Given the description of an element on the screen output the (x, y) to click on. 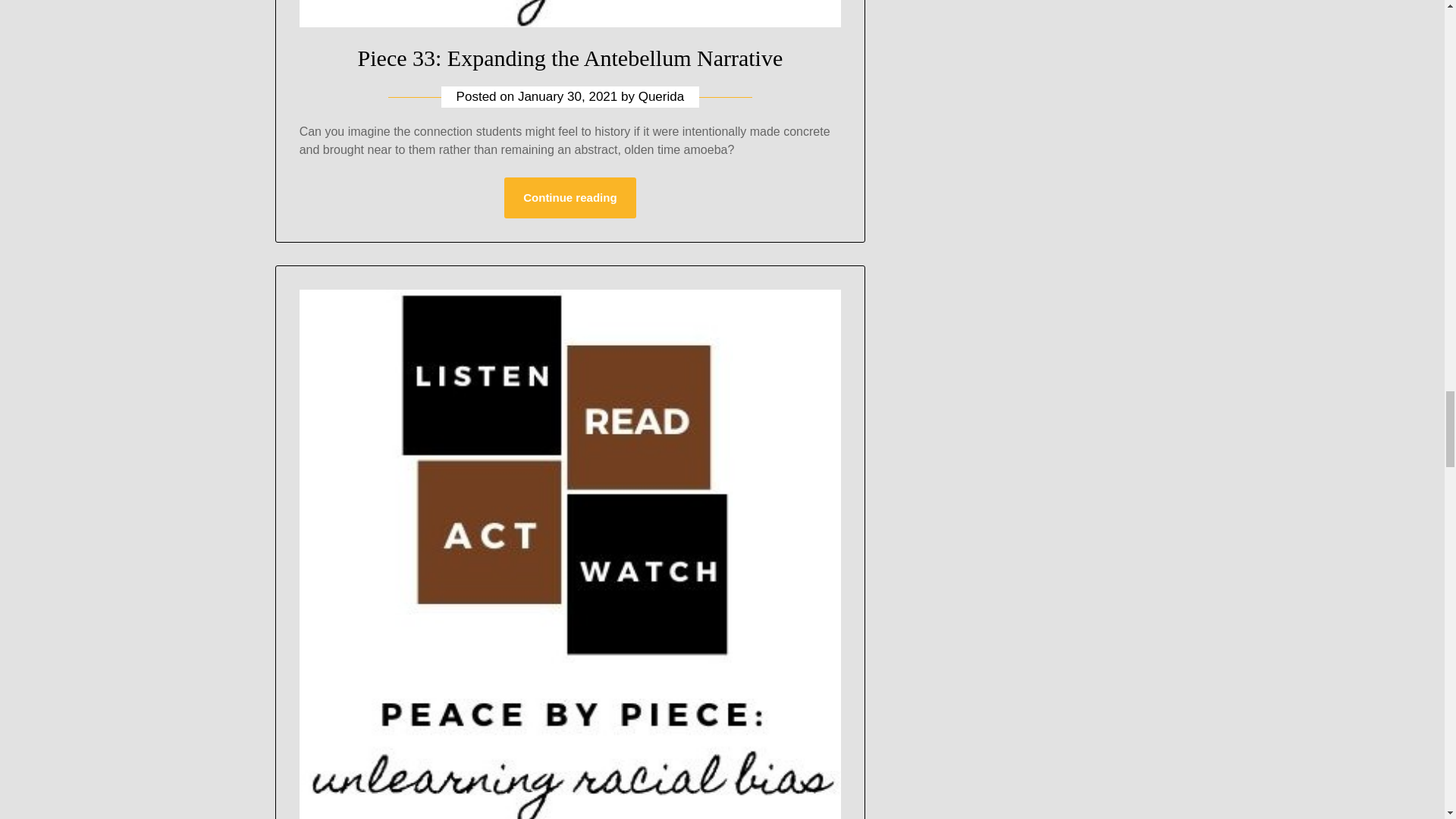
Querida (661, 96)
Piece 33: Expanding the Antebellum Narrative (570, 57)
Continue reading (568, 197)
January 30, 2021 (567, 96)
